Given the description of an element on the screen output the (x, y) to click on. 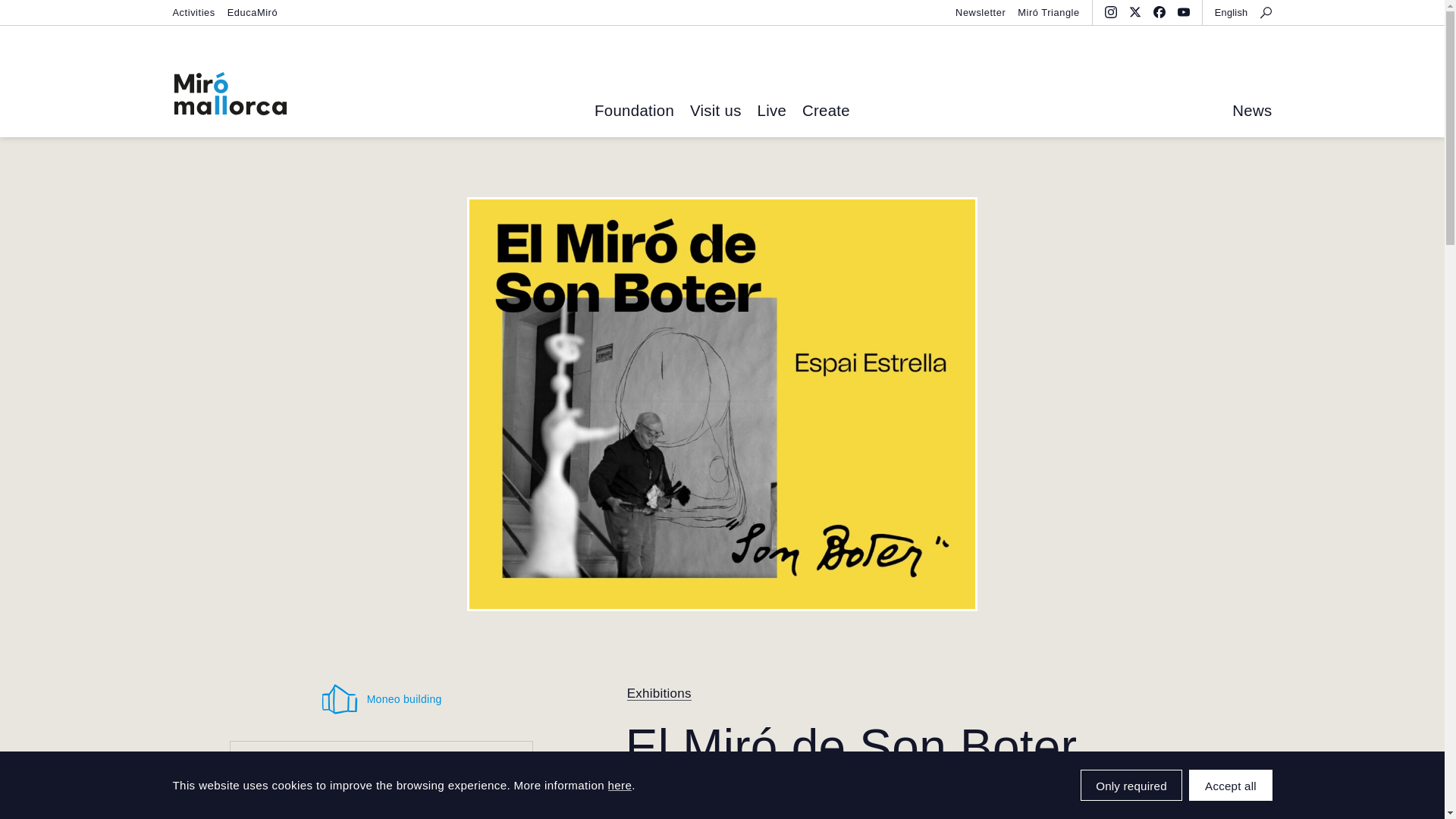
Foundation (634, 110)
Live (771, 110)
Create (826, 110)
Visit us (715, 110)
